Given the description of an element on the screen output the (x, y) to click on. 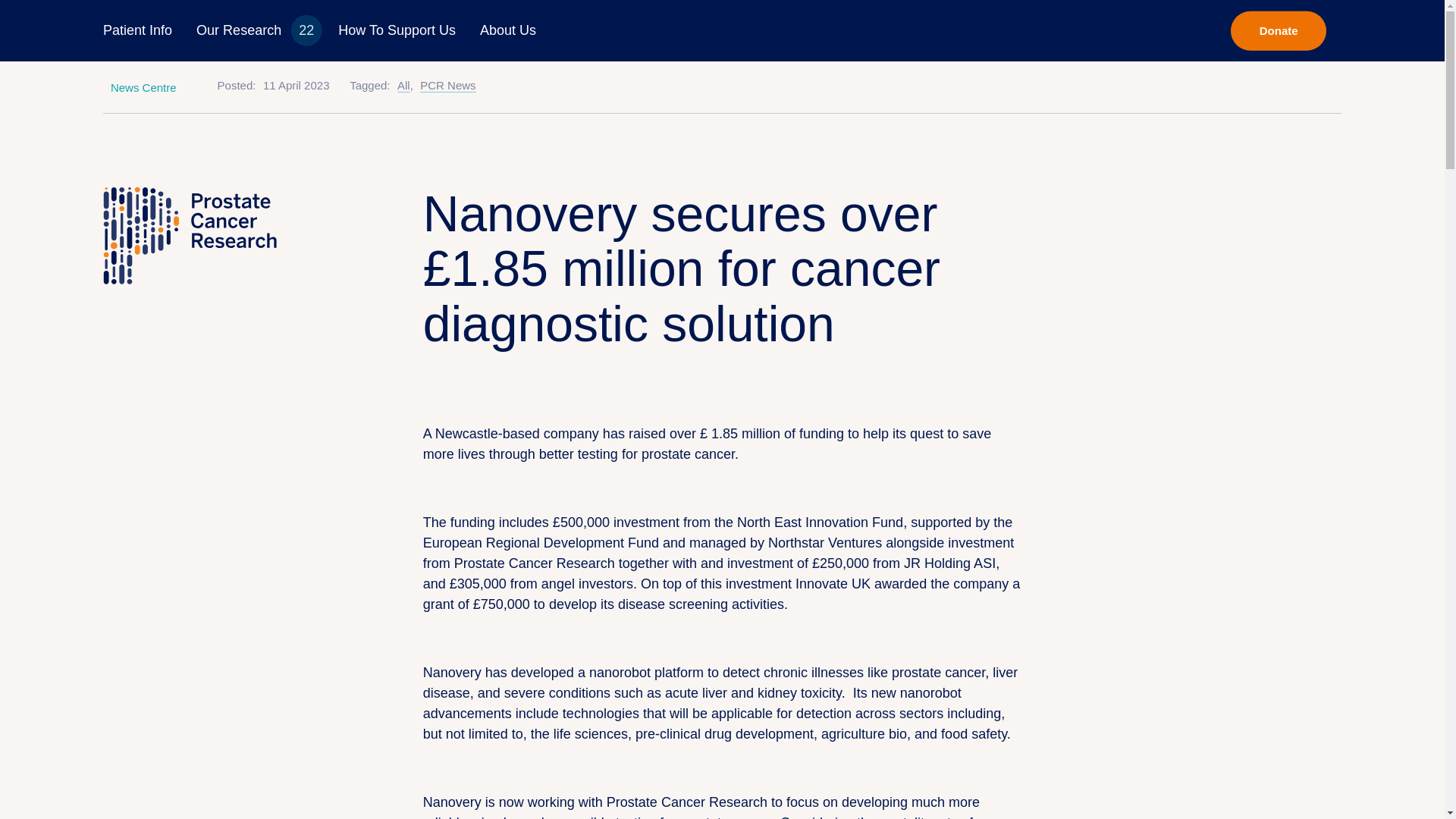
Patient Info (138, 30)
Our Research 22 (255, 30)
